Given the description of an element on the screen output the (x, y) to click on. 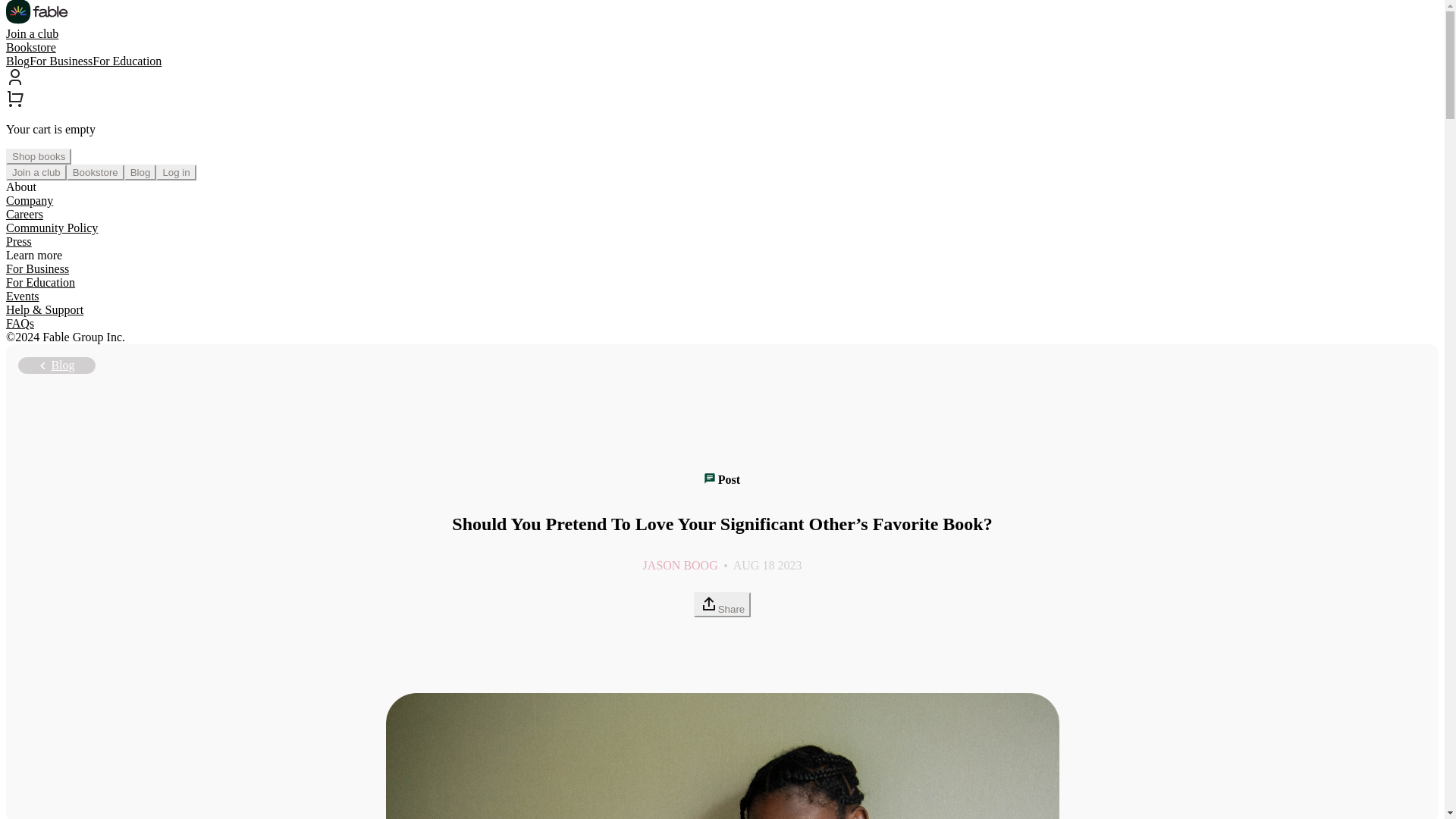
Careers (24, 214)
Events (22, 295)
Blog (56, 365)
Blog (140, 172)
Press (18, 241)
FAQs (19, 323)
For Education (40, 282)
Share (722, 604)
Bookstore (94, 172)
Bookstore (30, 47)
